Given the description of an element on the screen output the (x, y) to click on. 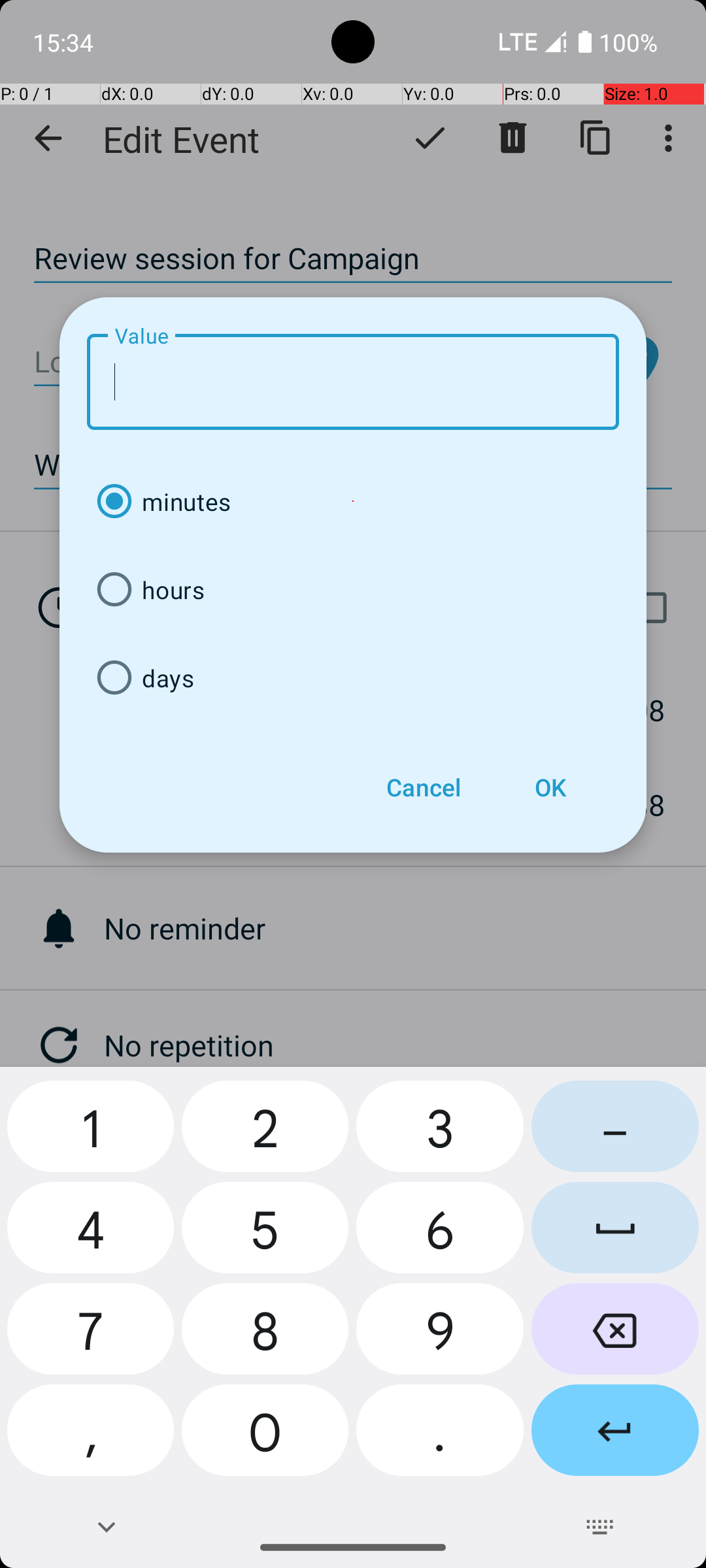
Value Element type: android.widget.EditText (352, 381)
minutes Element type: android.widget.RadioButton (352, 501)
hours Element type: android.widget.RadioButton (352, 589)
days Element type: android.widget.RadioButton (352, 677)
